Given the description of an element on the screen output the (x, y) to click on. 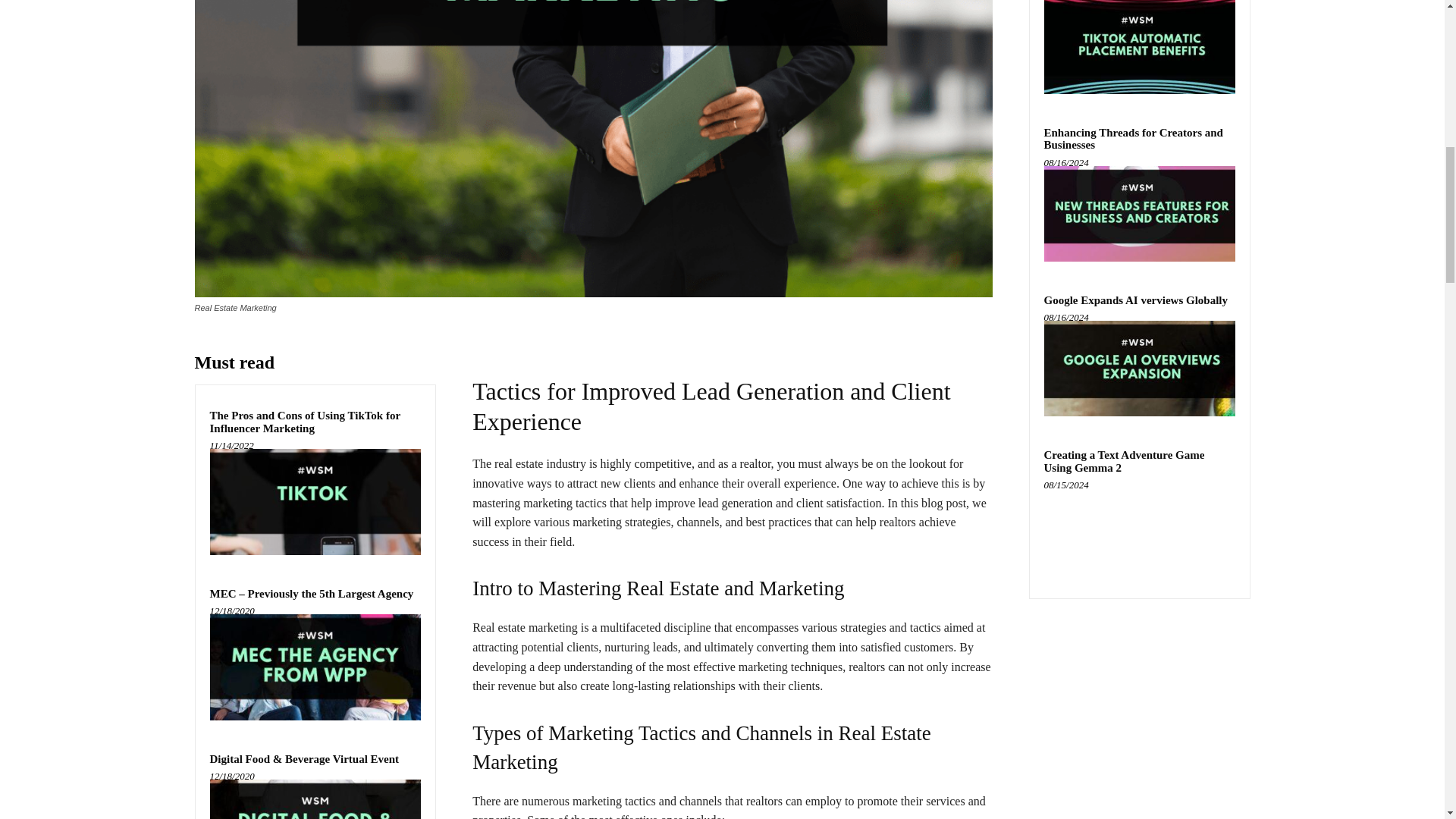
The Pros and Cons of Using TikTok for Influencer Marketing (304, 421)
The Pros and Cons of Using TikTok for Influencer Marketing (314, 501)
